Given the description of an element on the screen output the (x, y) to click on. 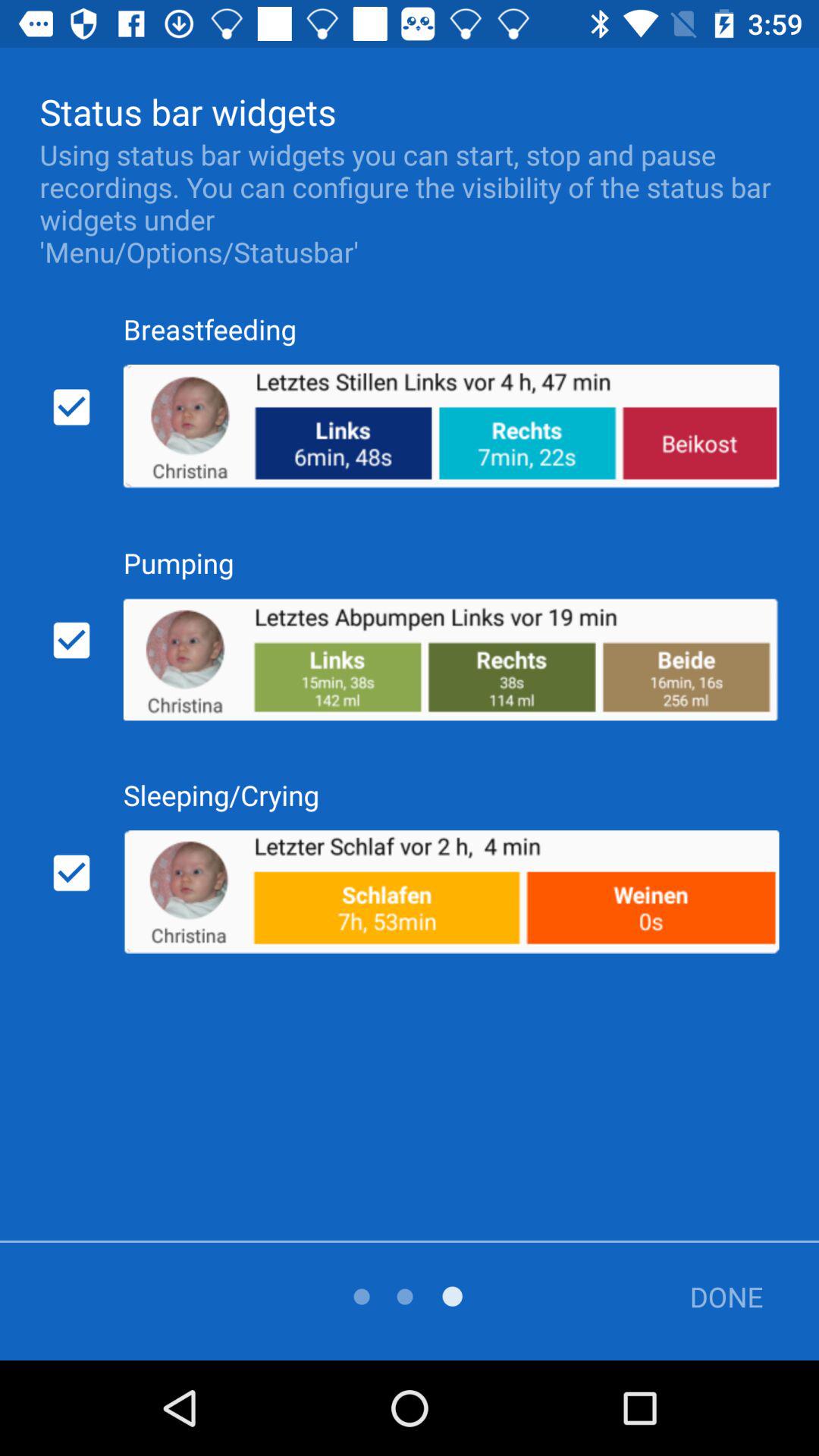
swipe until done icon (715, 1296)
